Given the description of an element on the screen output the (x, y) to click on. 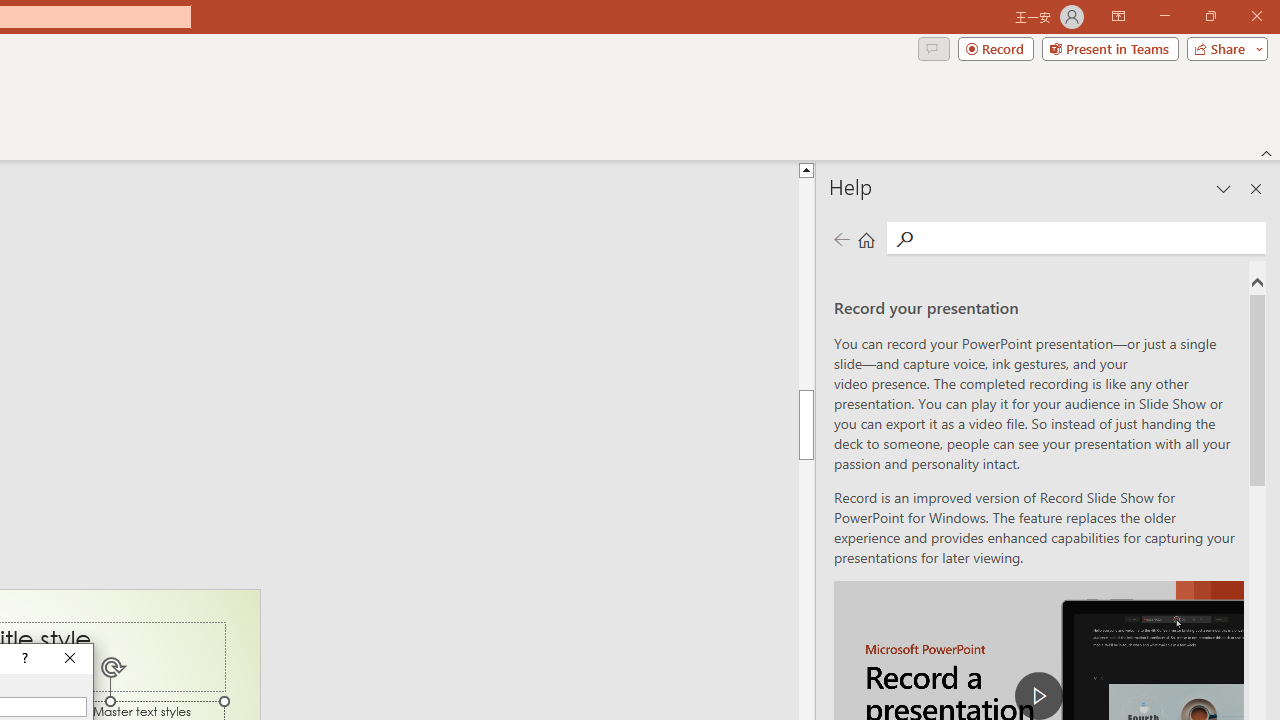
Context help (23, 658)
